Given the description of an element on the screen output the (x, y) to click on. 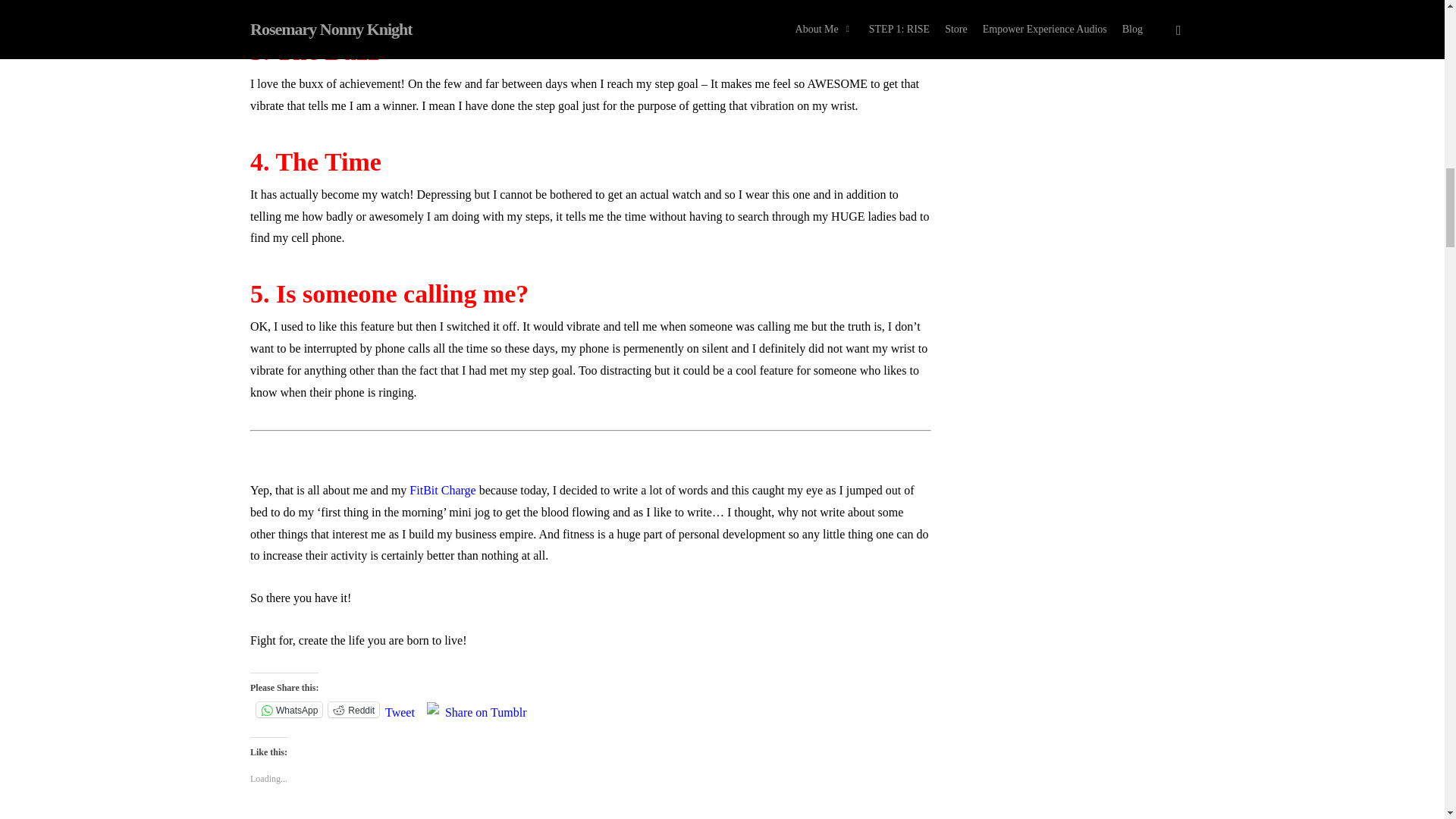
WhatsApp (288, 709)
Click to share on Reddit (353, 709)
FitBit Charge (442, 490)
Tweet (399, 708)
Share on Tumblr (486, 708)
Share on Tumblr (486, 708)
Click to share on WhatsApp (288, 709)
Reddit (353, 709)
